Given the description of an element on the screen output the (x, y) to click on. 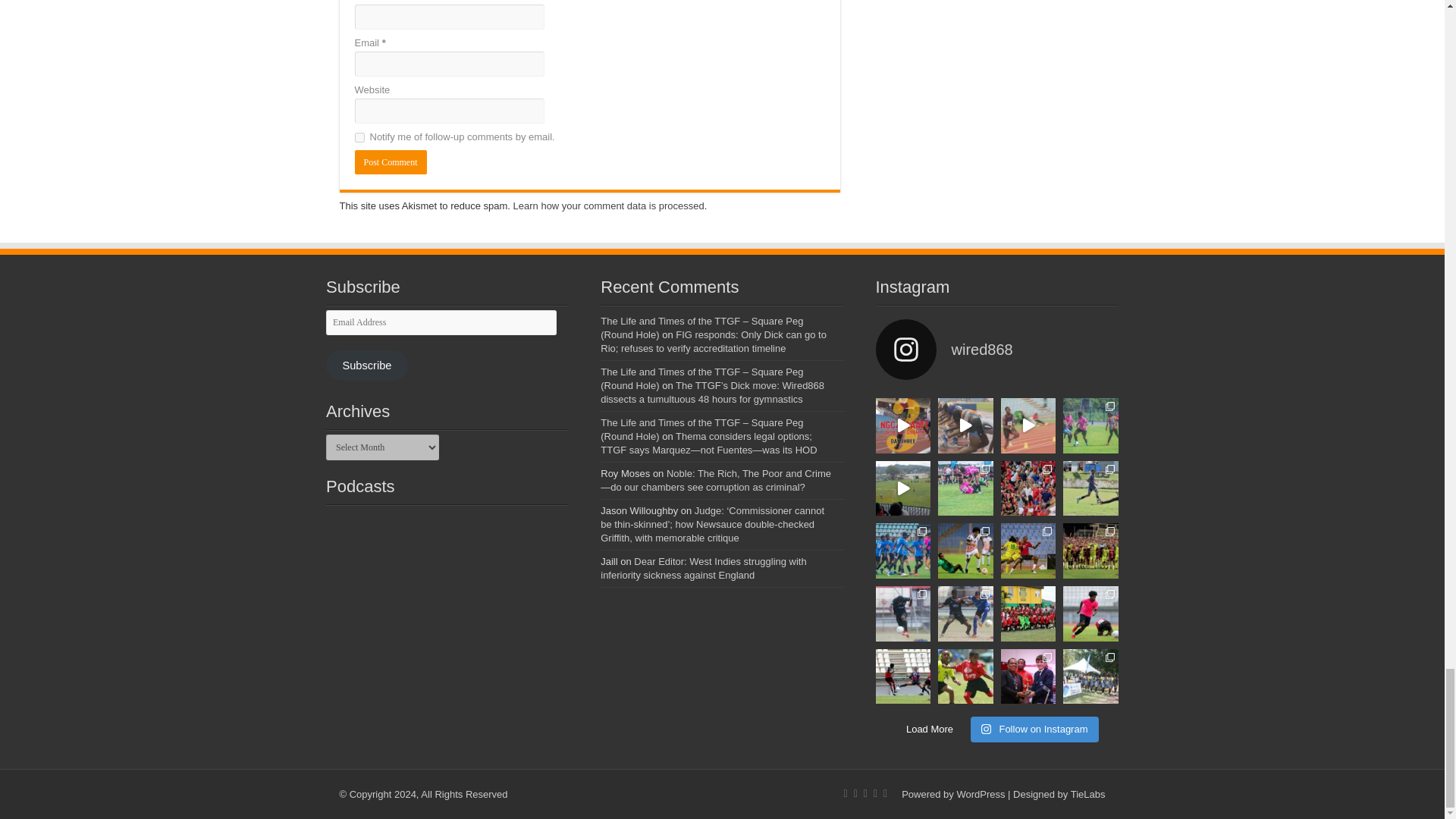
subscribe (360, 137)
Post Comment (390, 161)
